Given the description of an element on the screen output the (x, y) to click on. 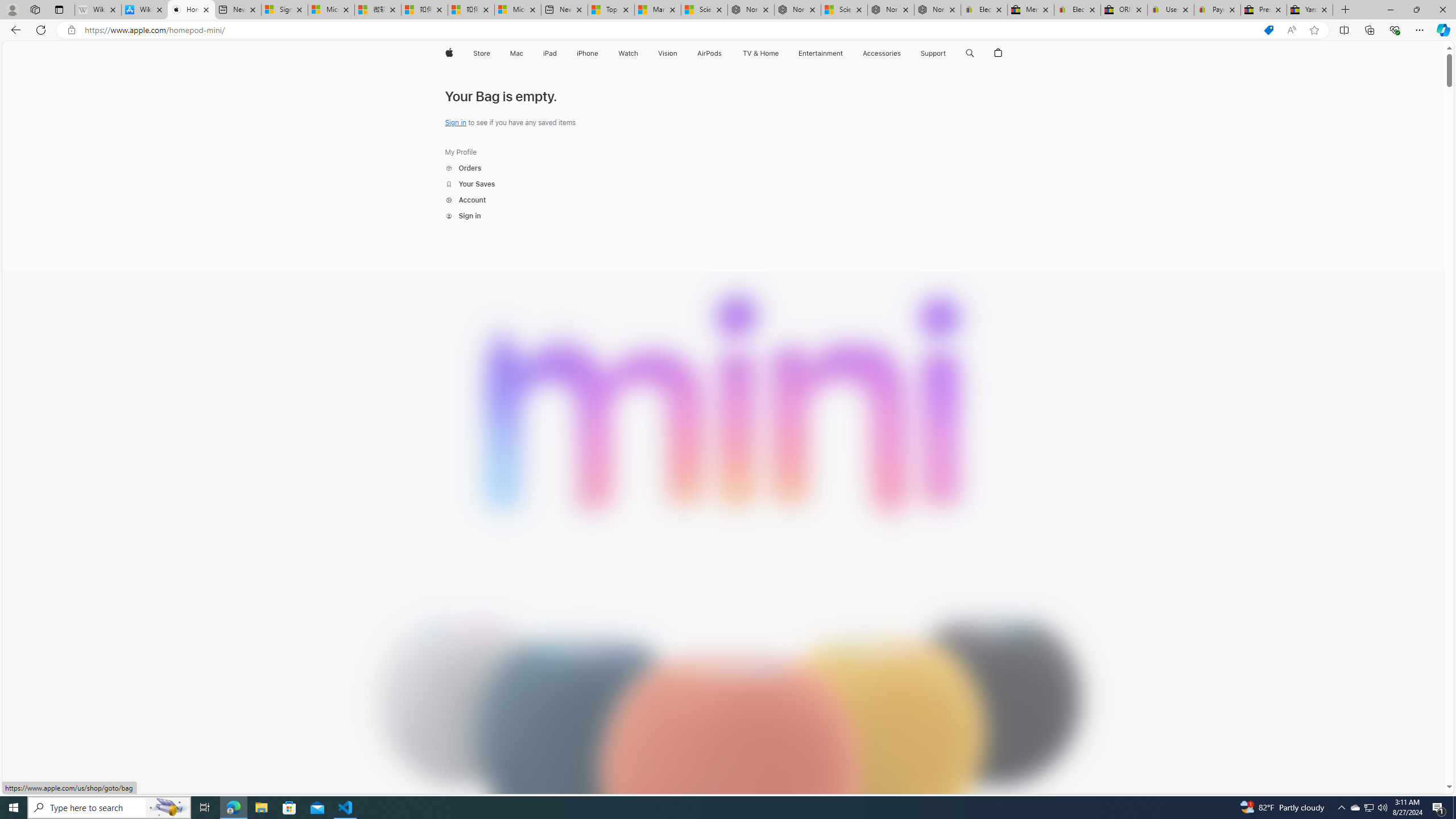
Class: globalnav-submenu-trigger-item (948, 53)
AutomationID: Outlined (448, 215)
Tech Specs (944, 80)
Your Saves (470, 184)
Store menu (492, 53)
Your Saves (470, 184)
